Given the description of an element on the screen output the (x, y) to click on. 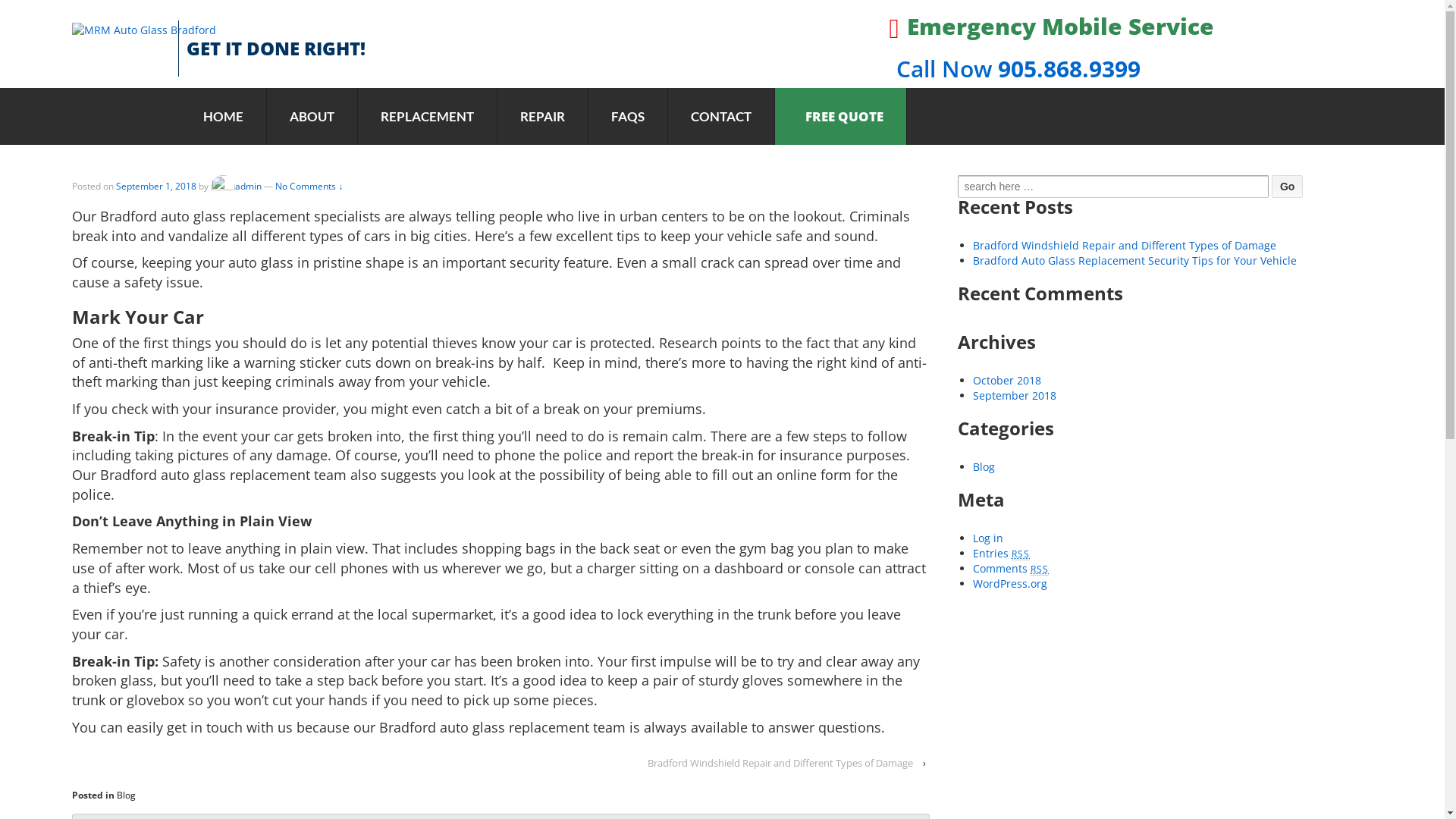
HOME Element type: text (223, 115)
Comments RSS Element type: text (1010, 568)
Bradford Windshield Repair and Different Types of Damage Element type: text (1124, 245)
Log in Element type: text (987, 537)
FAQS Element type: text (627, 115)
Entries RSS Element type: text (1001, 553)
Bradford Windshield Repair and Different Types of Damage Element type: text (780, 762)
REPAIR Element type: text (542, 115)
Call Now 905.868.9399 Element type: text (1014, 68)
September 1, 2018 Element type: text (156, 185)
Go Element type: text (1286, 186)
Blog Element type: text (983, 466)
Blog Element type: text (125, 794)
September 2018 Element type: text (1014, 395)
ABOUT Element type: text (311, 115)
admin Element type: text (235, 185)
REPLACEMENT Element type: text (426, 115)
FREE QUOTE Element type: text (840, 115)
CONTACT Element type: text (720, 115)
WordPress.org Element type: text (1009, 583)
October 2018 Element type: text (1006, 380)
